Given the description of an element on the screen output the (x, y) to click on. 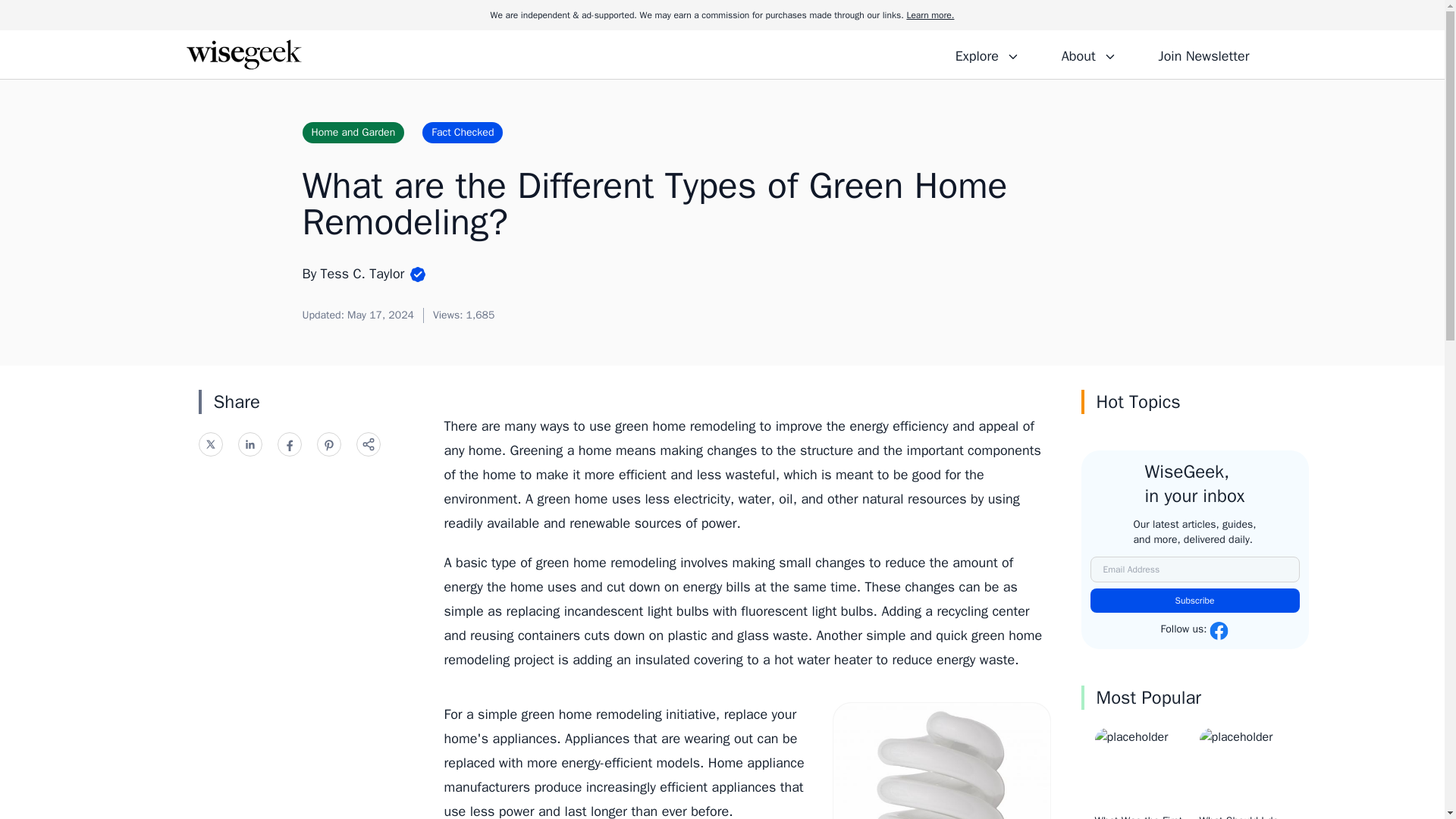
Home and Garden (352, 132)
Explore (986, 54)
Learn more. (929, 15)
Join Newsletter (1202, 54)
Fact Checked (462, 132)
About (1088, 54)
